Given the description of an element on the screen output the (x, y) to click on. 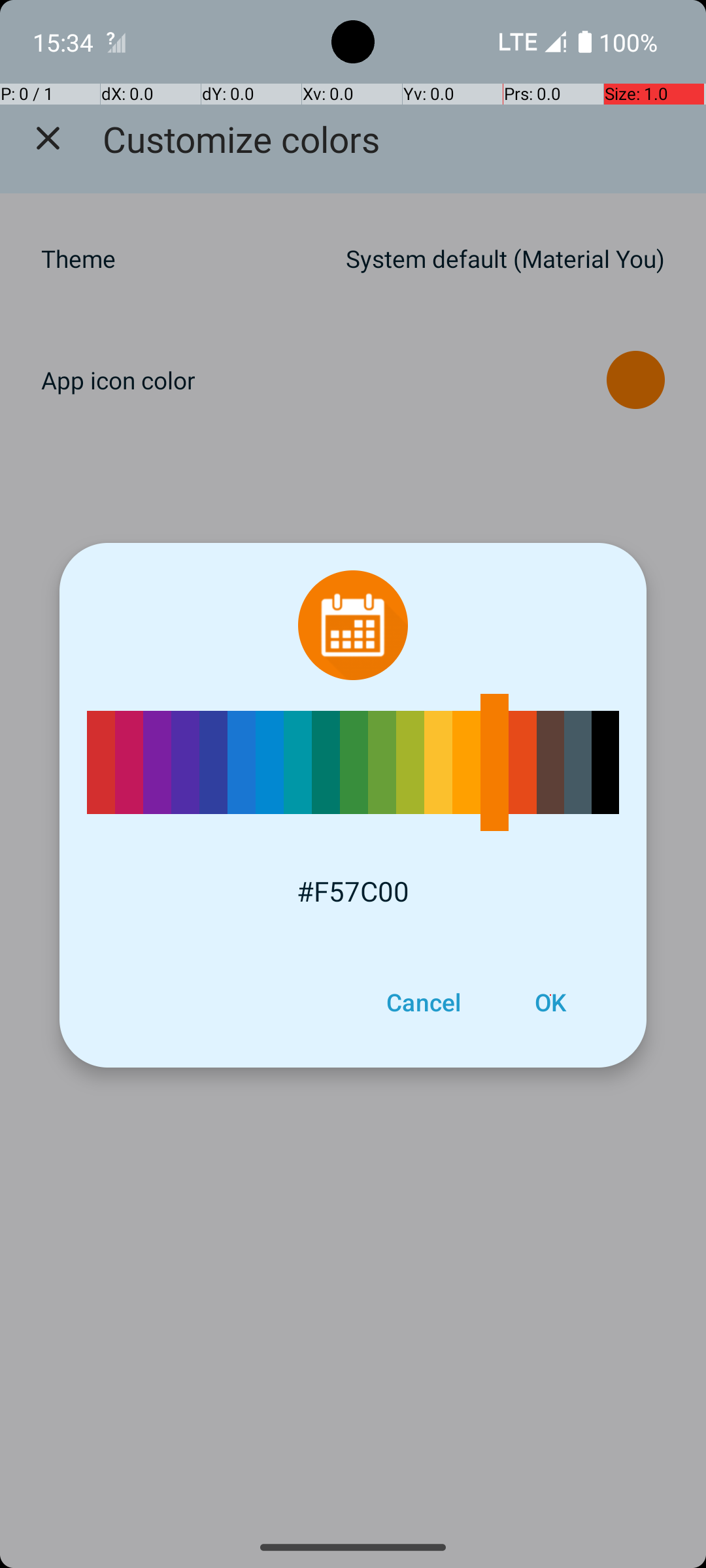
#F57C00 Element type: android.widget.TextView (352, 890)
